Given the description of an element on the screen output the (x, y) to click on. 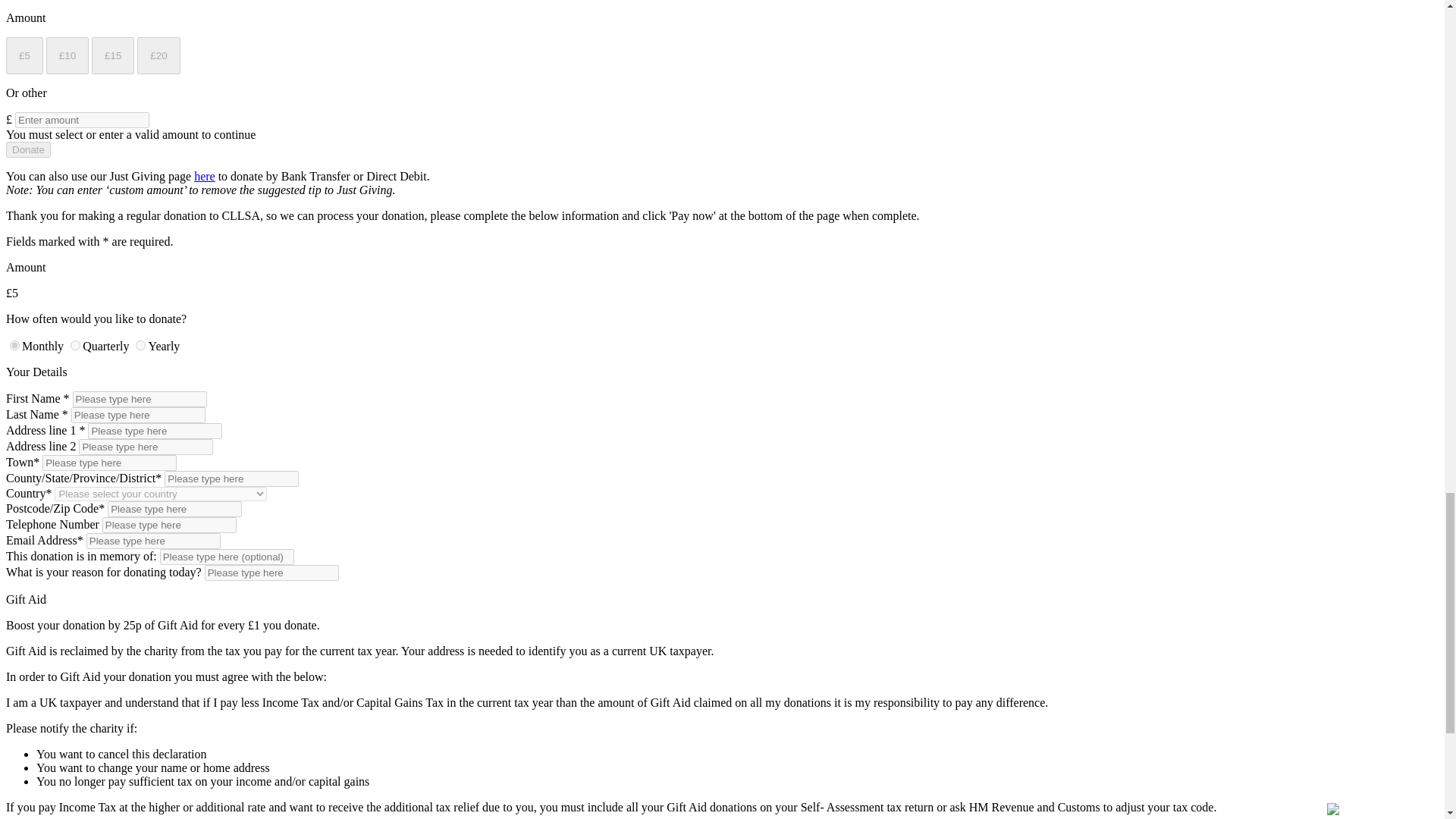
yearly (140, 345)
monthly (15, 345)
quarterly (74, 345)
